Given the description of an element on the screen output the (x, y) to click on. 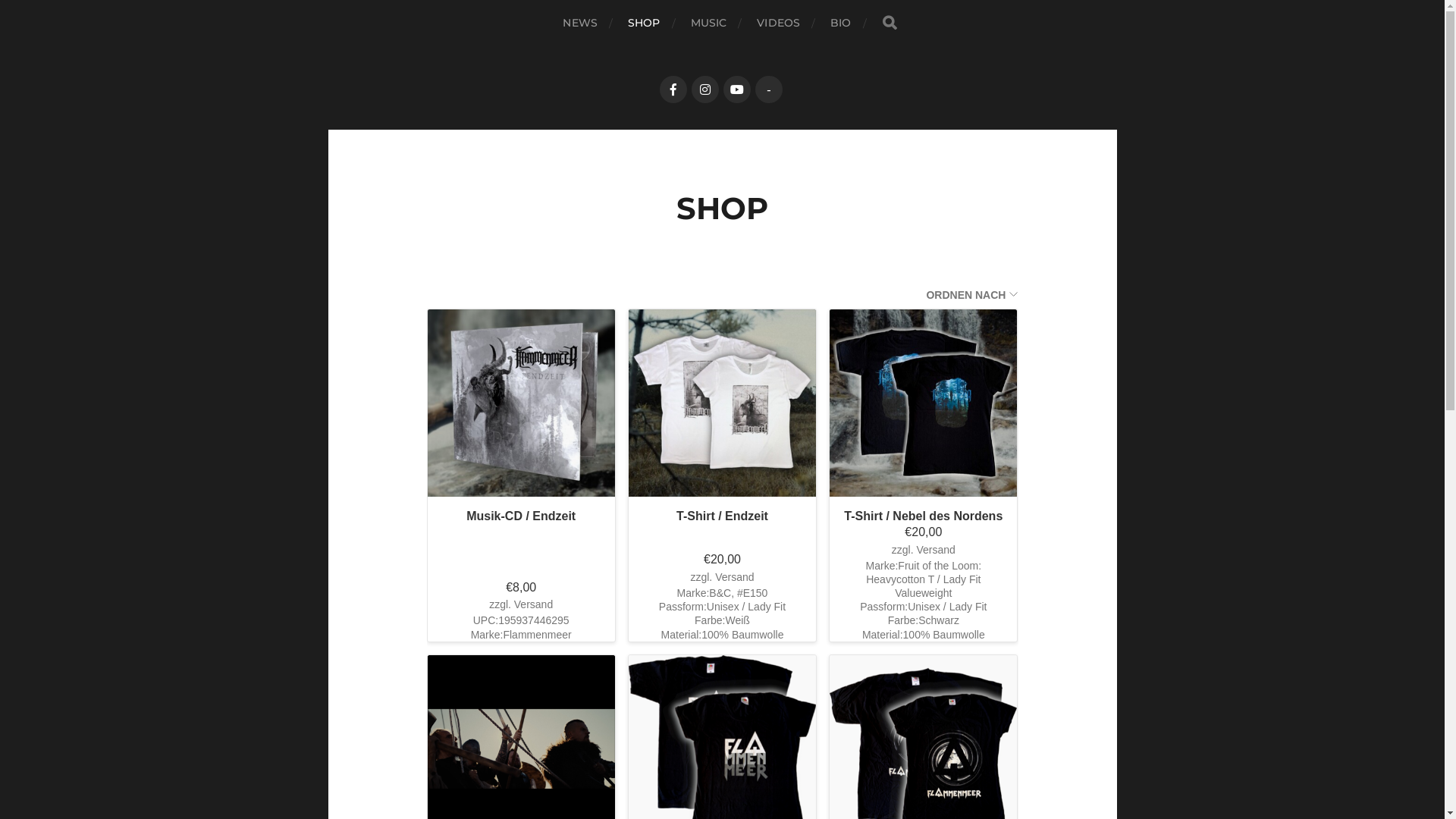
T-Shirt / Endzeit Element type: hover (721, 402)
NEWS Element type: text (579, 22)
T-Shirt / Nebel des Nordens Element type: text (922, 516)
BIO Element type: text (840, 22)
VIDEOS Element type: text (778, 22)
Musik-CD / Endzeit Element type: text (521, 516)
Musik-CD / Endzeit Element type: hover (521, 402)
MUSIC Element type: text (708, 22)
T-Shirt / Endzeit Element type: text (721, 516)
SHOP Element type: text (643, 22)
T-Shirt / Nebel des Nordens Element type: hover (922, 402)
